Given the description of an element on the screen output the (x, y) to click on. 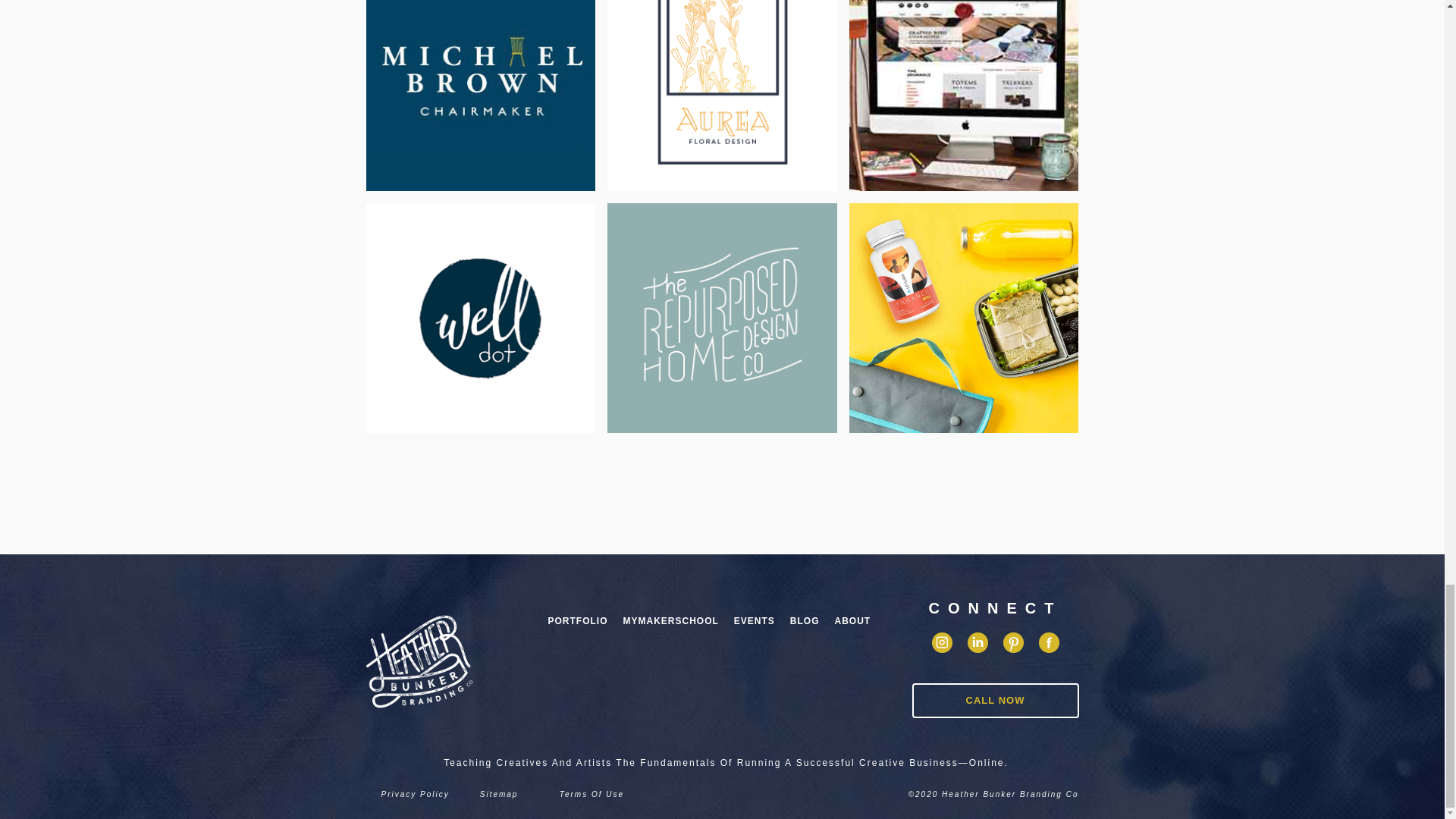
Terms Of Use (591, 794)
BLOG (805, 628)
EVENTS (754, 628)
MYMAKERSCHOOL (670, 628)
ABOUT (853, 628)
Privacy Policy (414, 794)
PORTFOLIO (577, 628)
Sitemap (499, 794)
CALL NOW (994, 700)
